Given the description of an element on the screen output the (x, y) to click on. 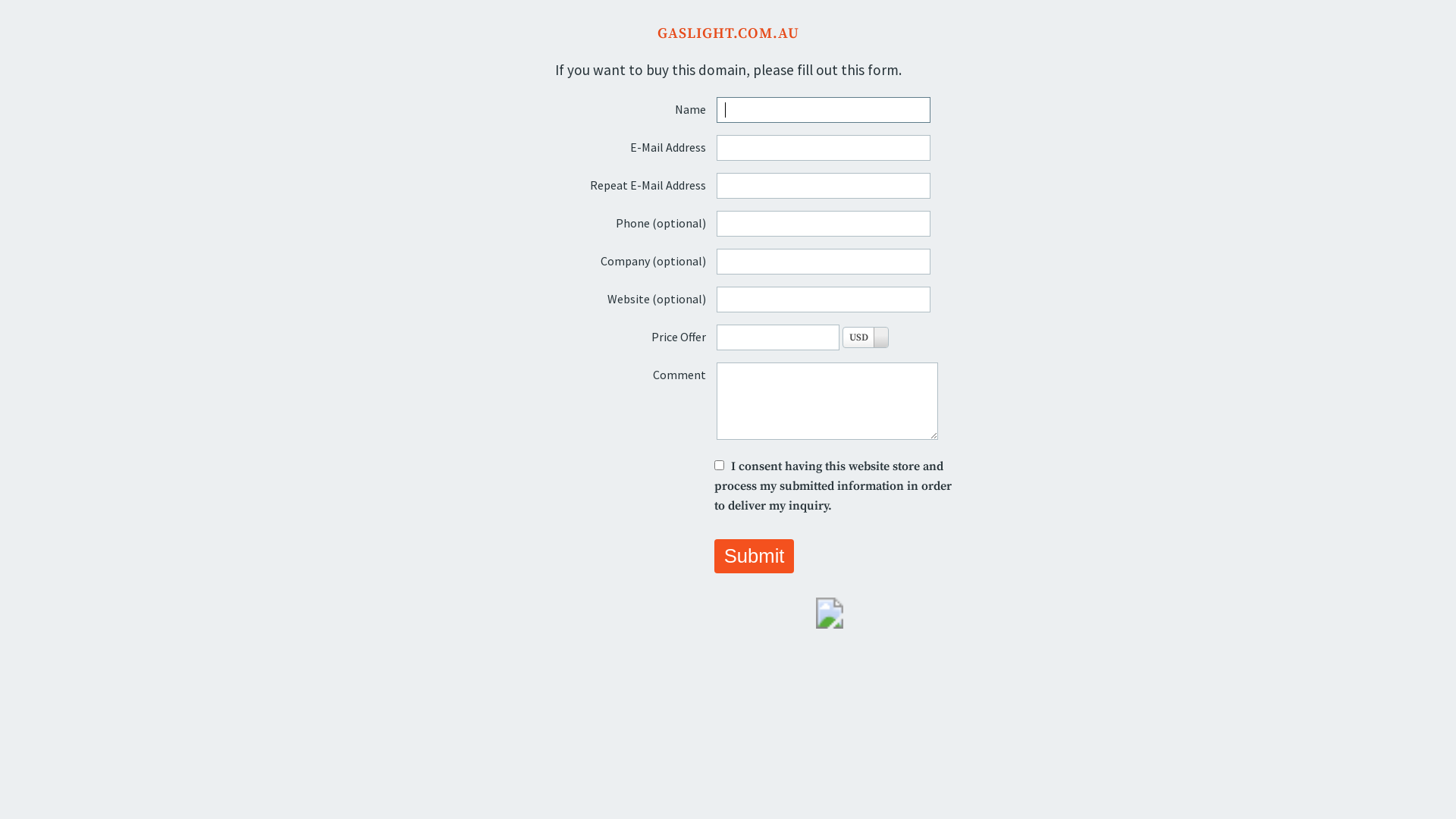
Submit Element type: text (753, 556)
USD Element type: text (865, 337)
